Given the description of an element on the screen output the (x, y) to click on. 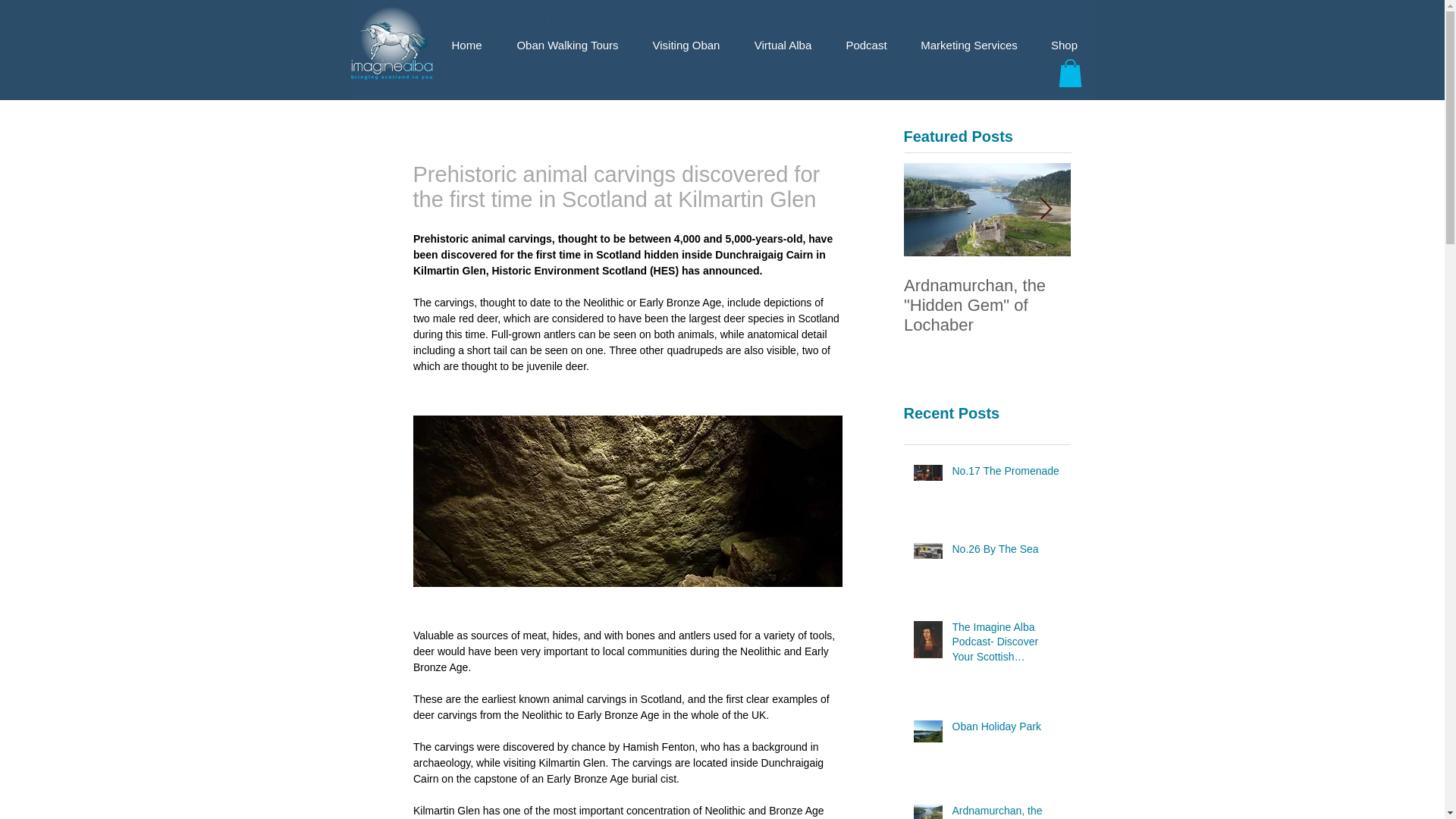
Gigha, "The Good Island" (1153, 295)
Ardnamurchan, the "Hidden Gem" of Lochaber (987, 305)
No.26 By The Sea (1006, 552)
Virtual Alba (782, 45)
Ardnamurchan, the "Hidden Gem" of Lochaber (1006, 811)
No.17 The Promenade (1006, 474)
Podcast (866, 45)
Shop (1063, 45)
Oban Holiday Park (1006, 730)
Marketing Services (969, 45)
Oban Walking Tours (566, 45)
Home (466, 45)
The Imagine Alba Podcast- Discover Your Scottish Ancestors (1006, 644)
Visiting Oban (685, 45)
